Given the description of an element on the screen output the (x, y) to click on. 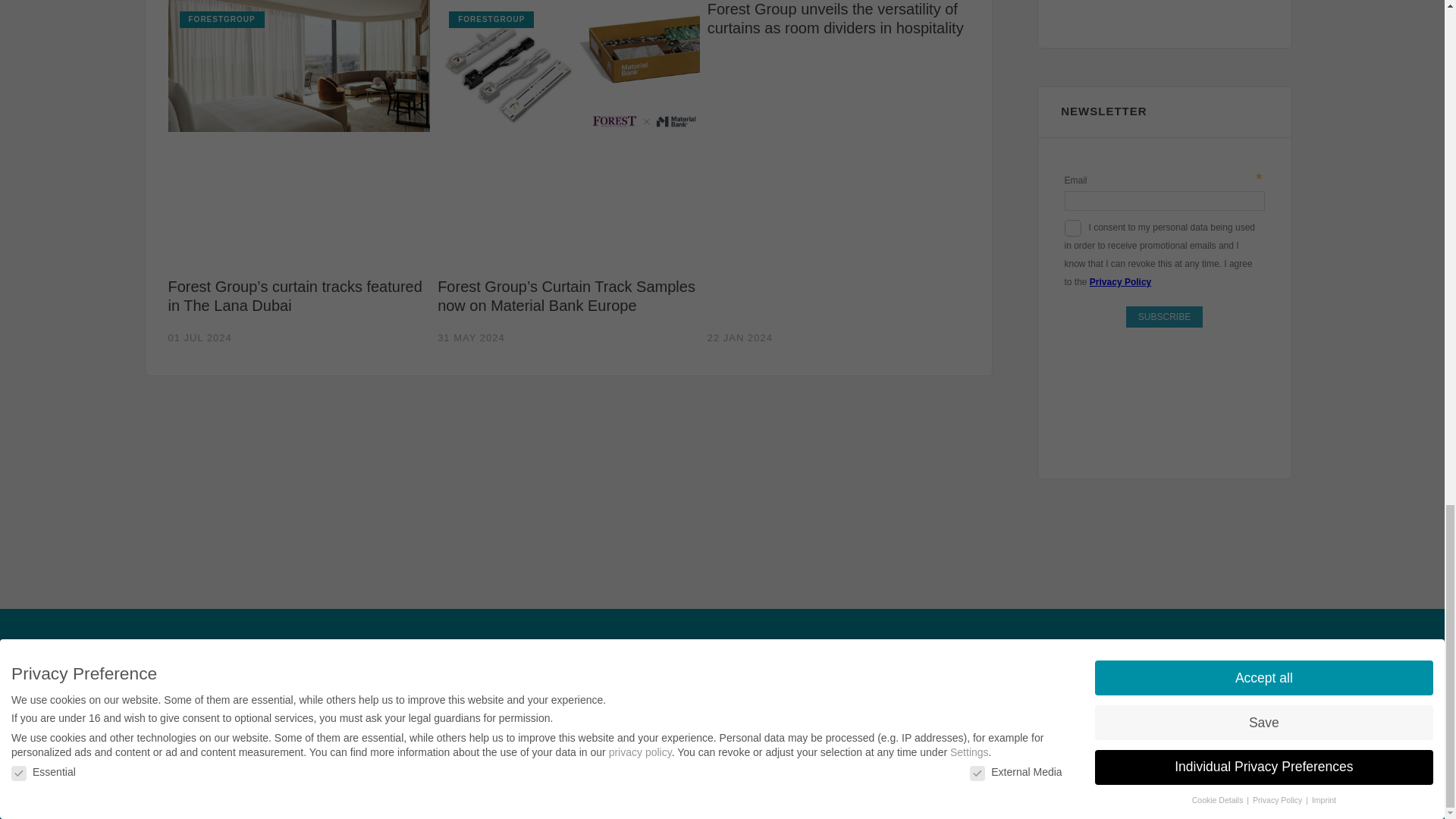
Imprint (173, 661)
Data Security Statement (426, 661)
